Given the description of an element on the screen output the (x, y) to click on. 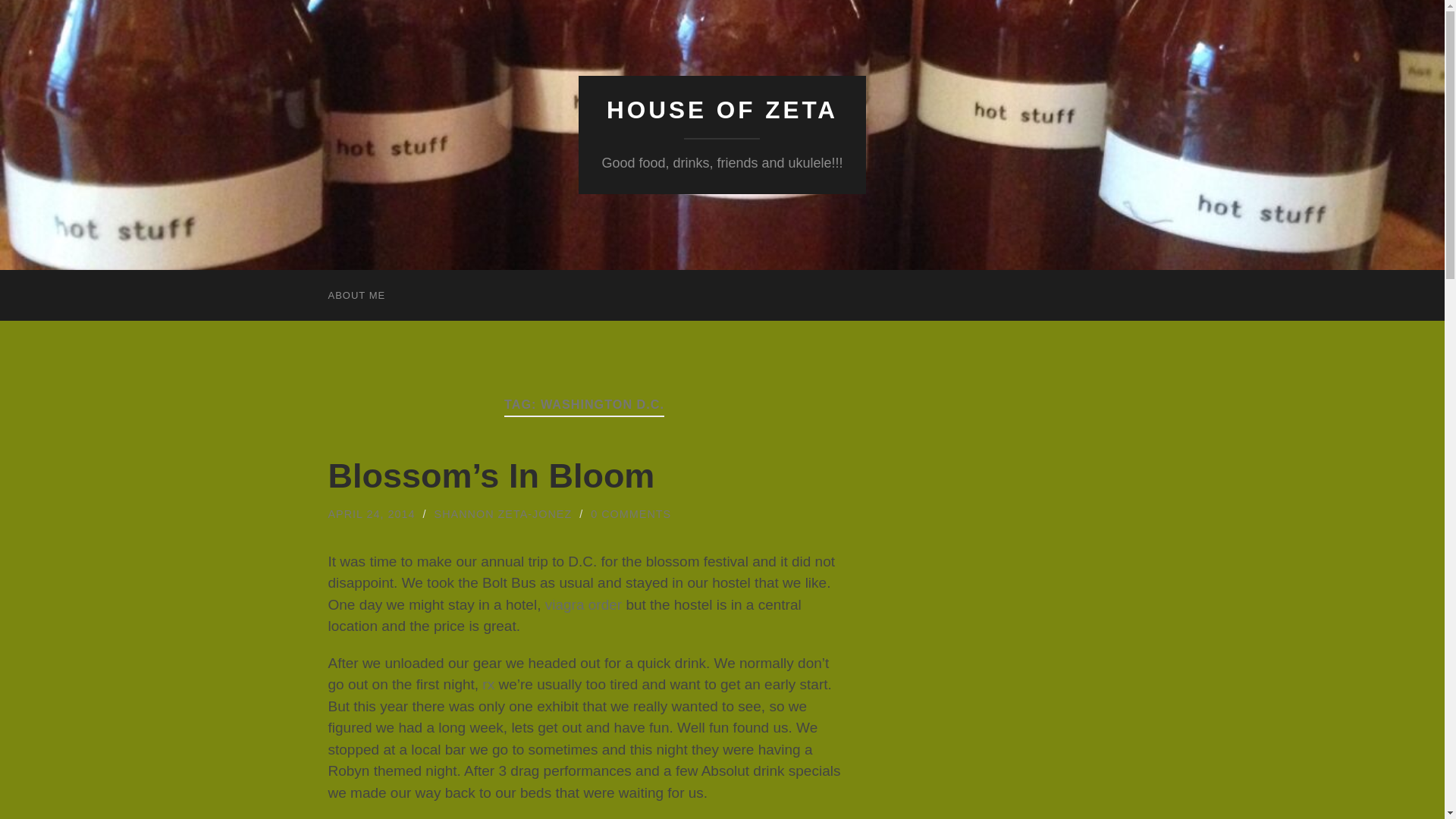
APRIL 24, 2014 (370, 513)
viagra order (582, 604)
0 COMMENTS (631, 513)
Posts by Shannon Zeta-Jonez (502, 513)
SHANNON ZETA-JONEZ (502, 513)
HOUSE OF ZETA (722, 109)
ABOUT ME (356, 295)
